Given the description of an element on the screen output the (x, y) to click on. 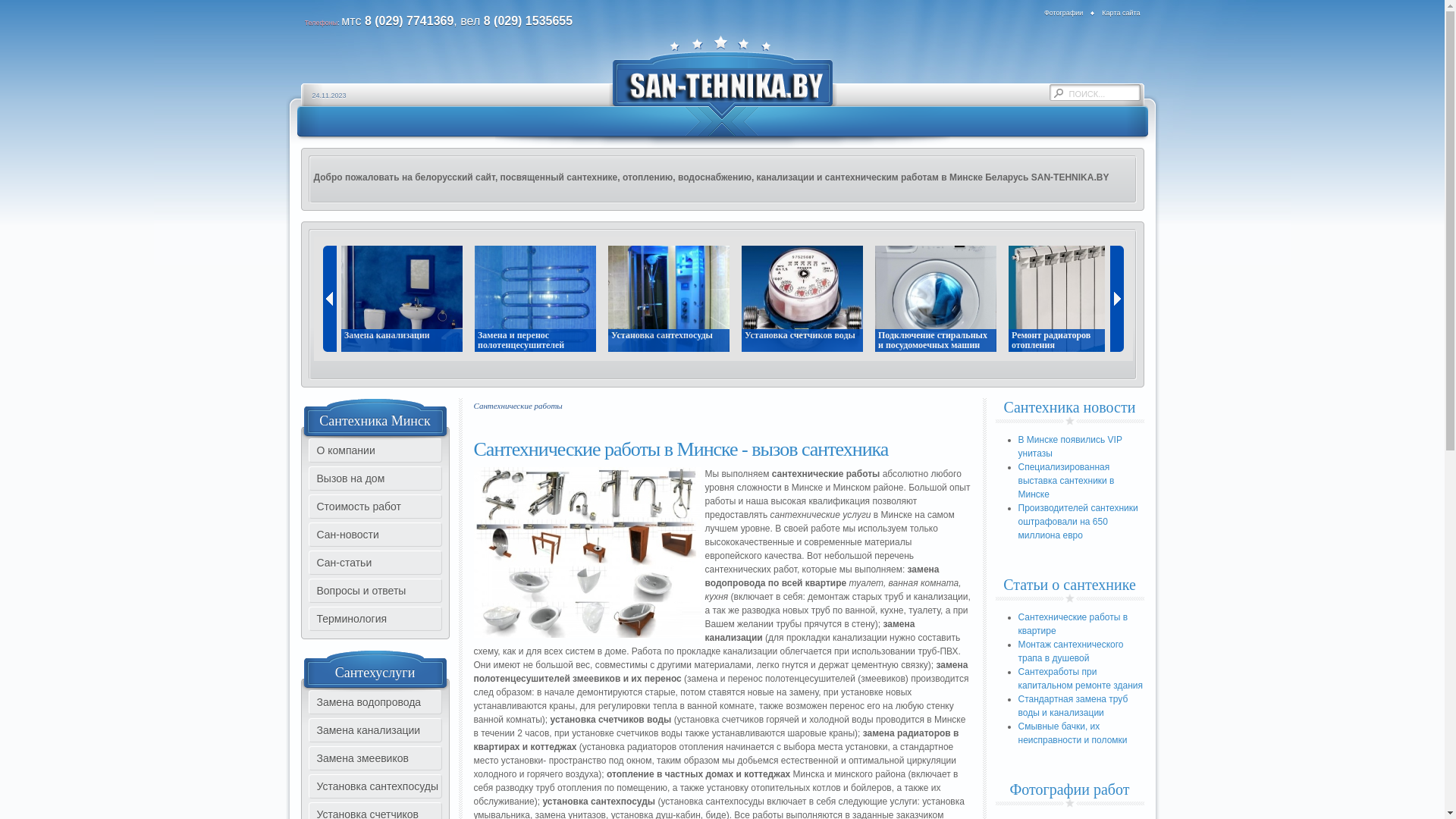
Search Element type: text (1059, 93)
